Given the description of an element on the screen output the (x, y) to click on. 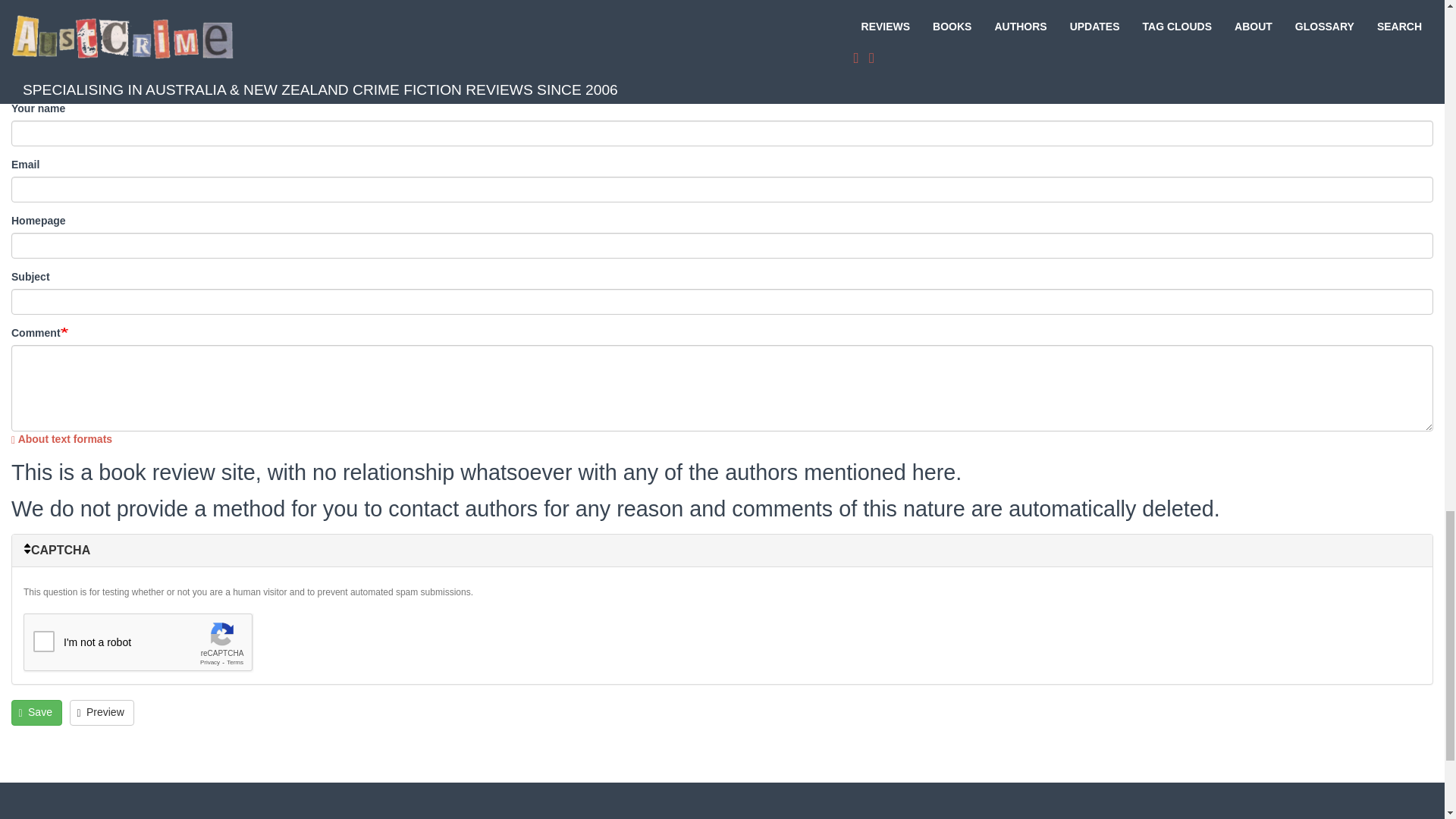
reCAPTCHA (138, 642)
